Given the description of an element on the screen output the (x, y) to click on. 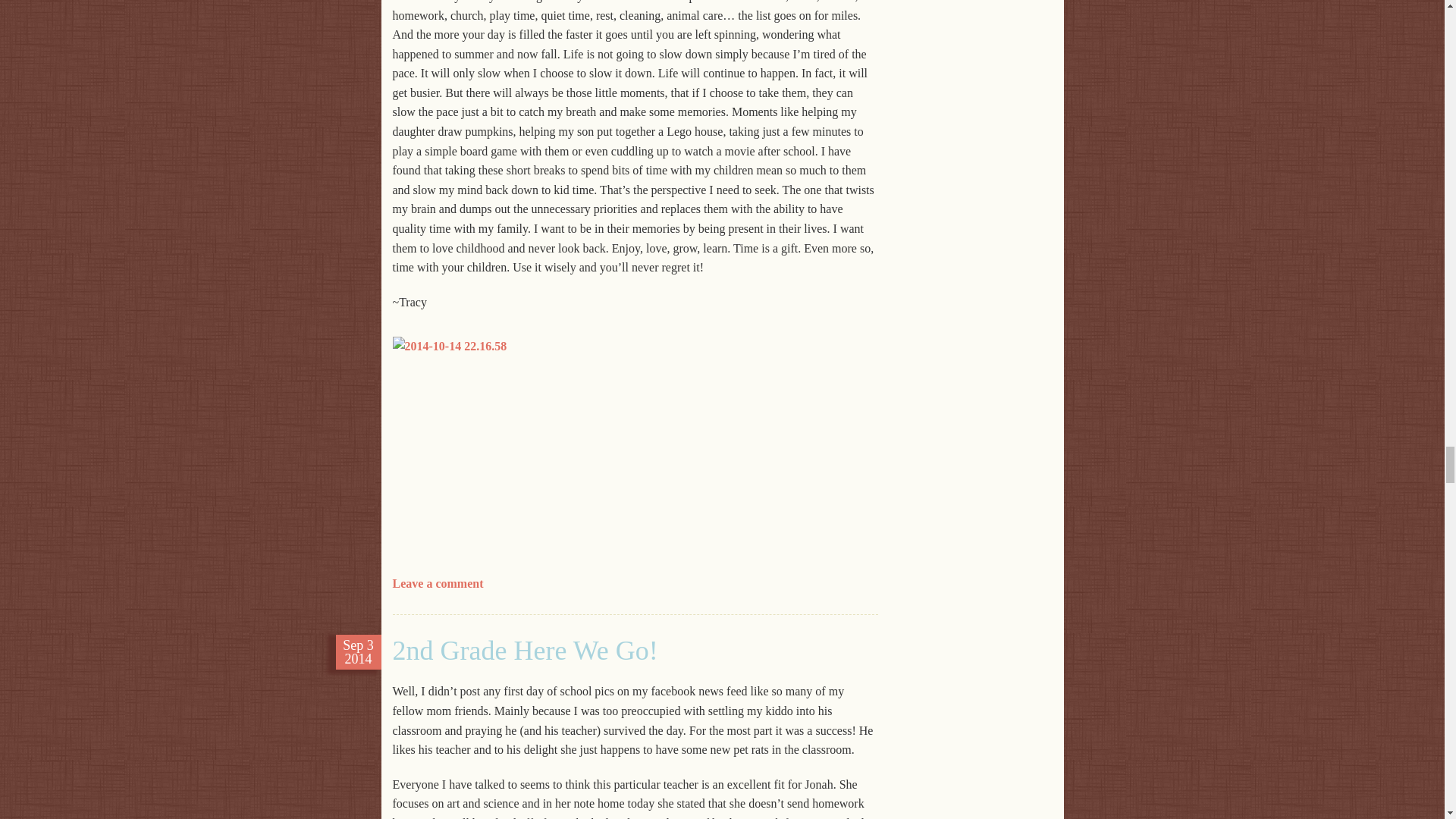
2nd Grade Here We Go! (525, 650)
Leave a comment (438, 583)
Sep 3 2014 (358, 651)
